Given the description of an element on the screen output the (x, y) to click on. 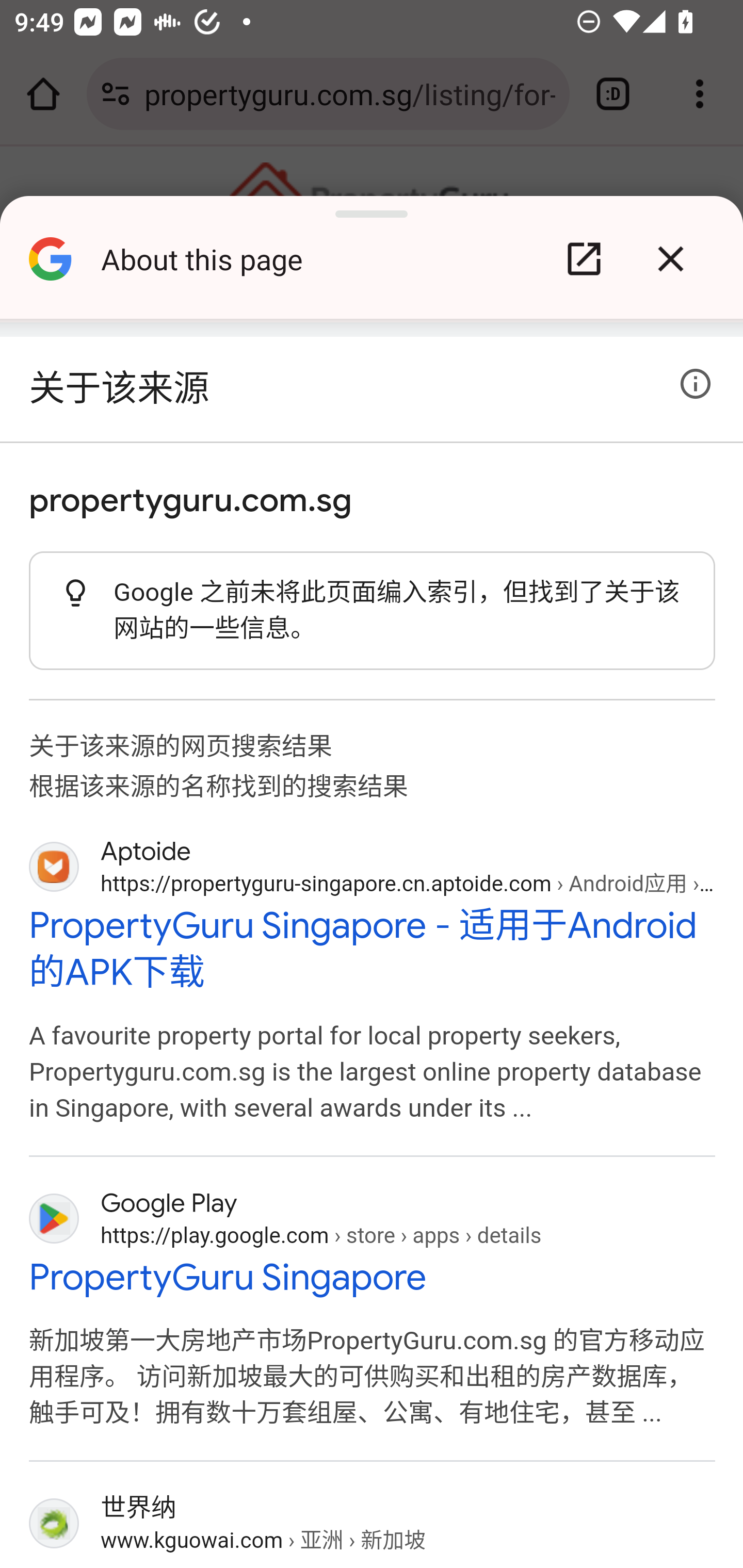
About this page Open in new tab Close (371, 266)
Open in new tab (583, 259)
Close (670, 259)
来源相关帮助 (695, 384)
